Given the description of an element on the screen output the (x, y) to click on. 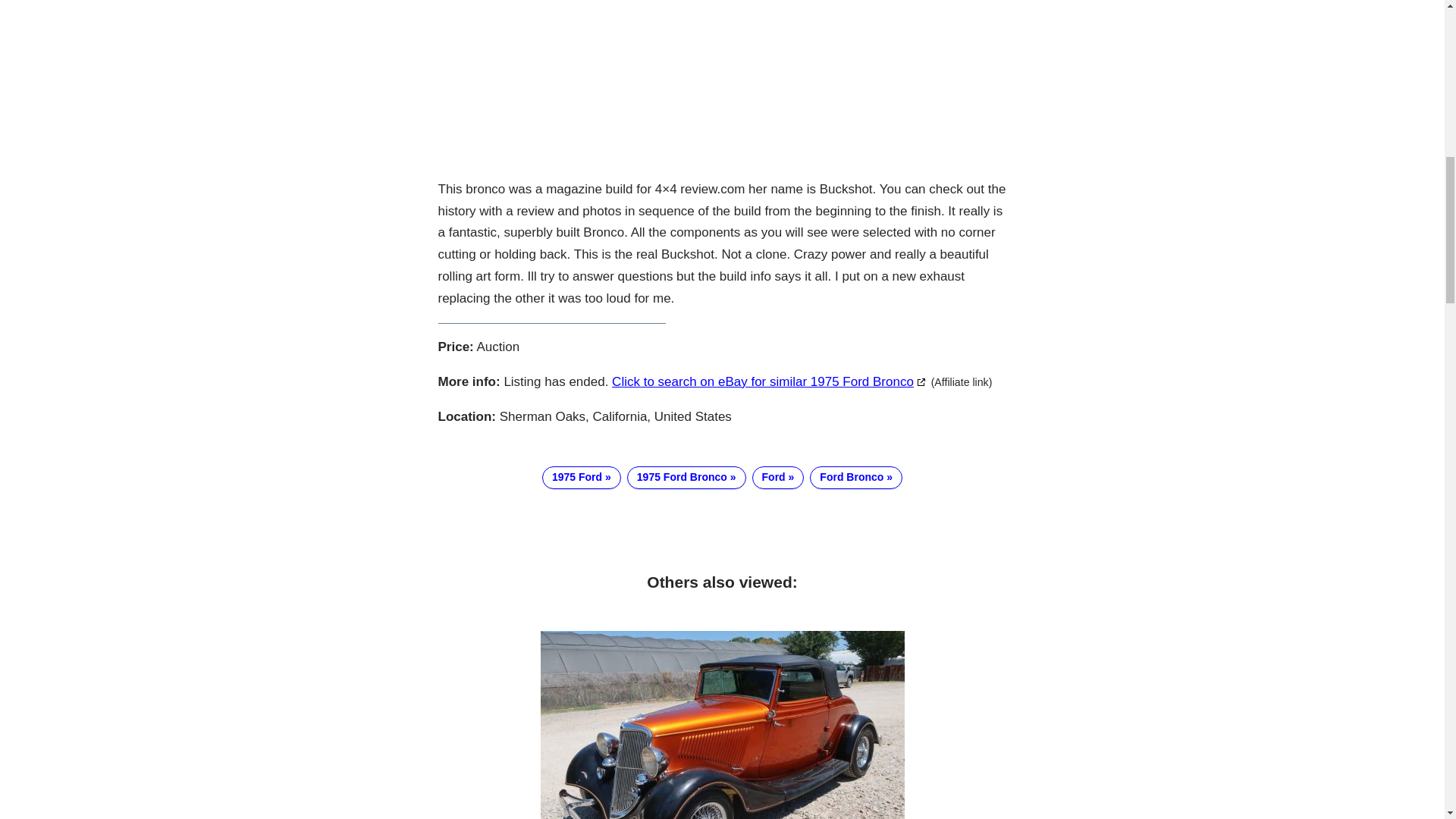
1975 Ford (581, 477)
1975 Ford Bronco (686, 477)
Ford (778, 477)
Advertisement (722, 83)
Click to search on eBay for similar 1975 Ford Bronco (769, 381)
Ford Bronco (855, 477)
